Given the description of an element on the screen output the (x, y) to click on. 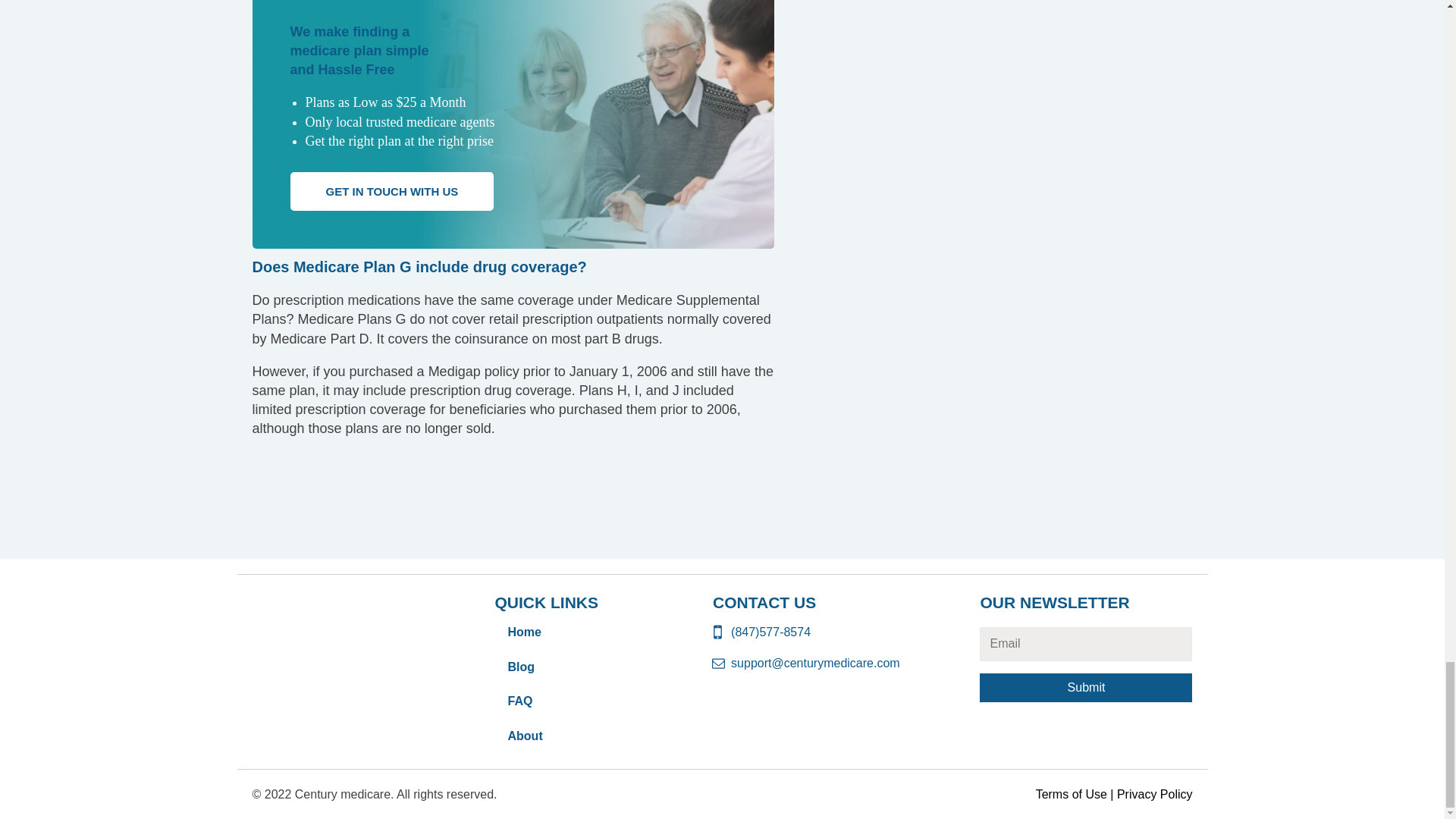
Submit (1085, 687)
GET IN TOUCH WITH US (391, 191)
GET IN TOUCH WITH US (391, 190)
Century Medicare (340, 614)
